Given the description of an element on the screen output the (x, y) to click on. 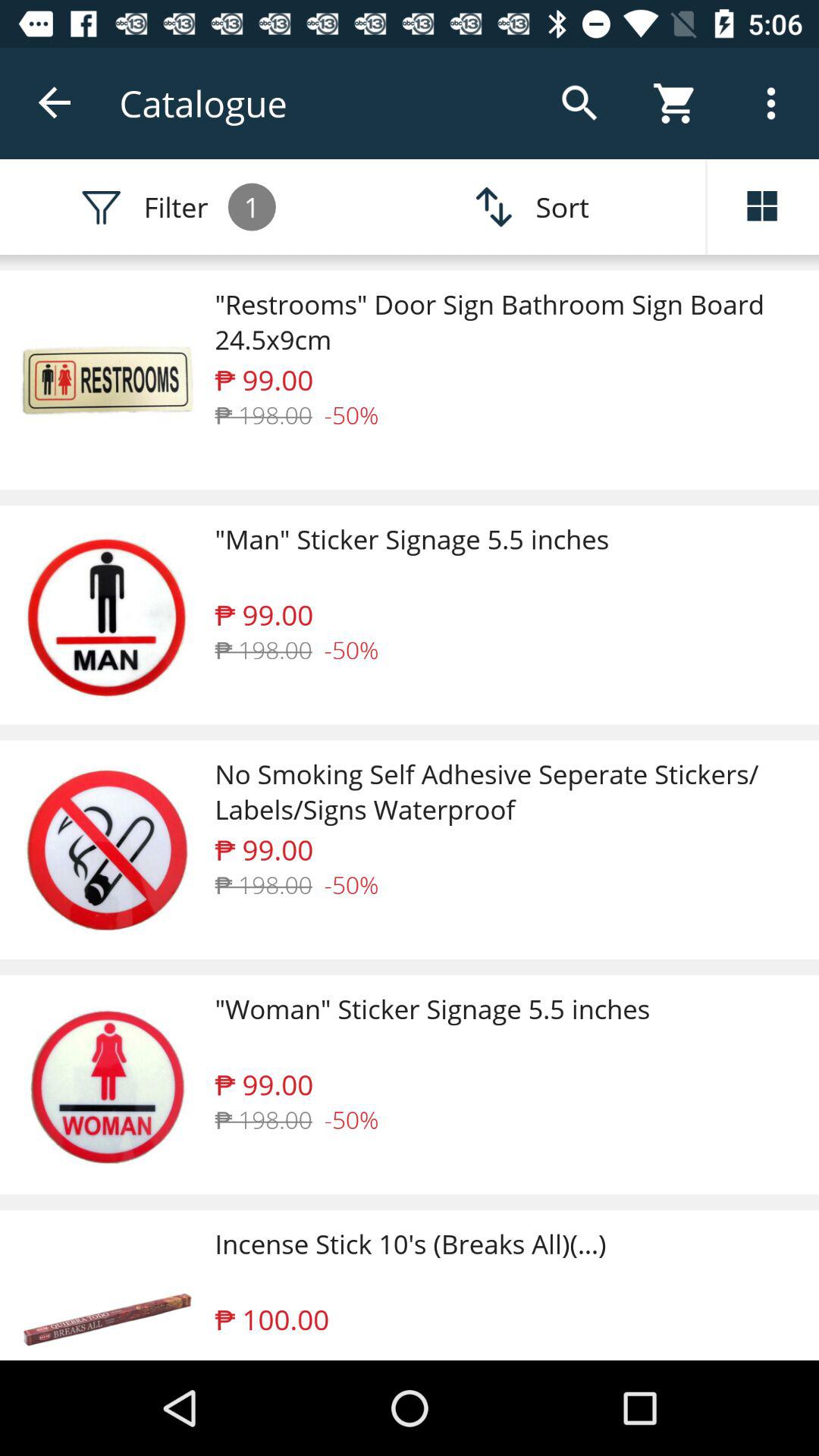
change layout (763, 206)
